Given the description of an element on the screen output the (x, y) to click on. 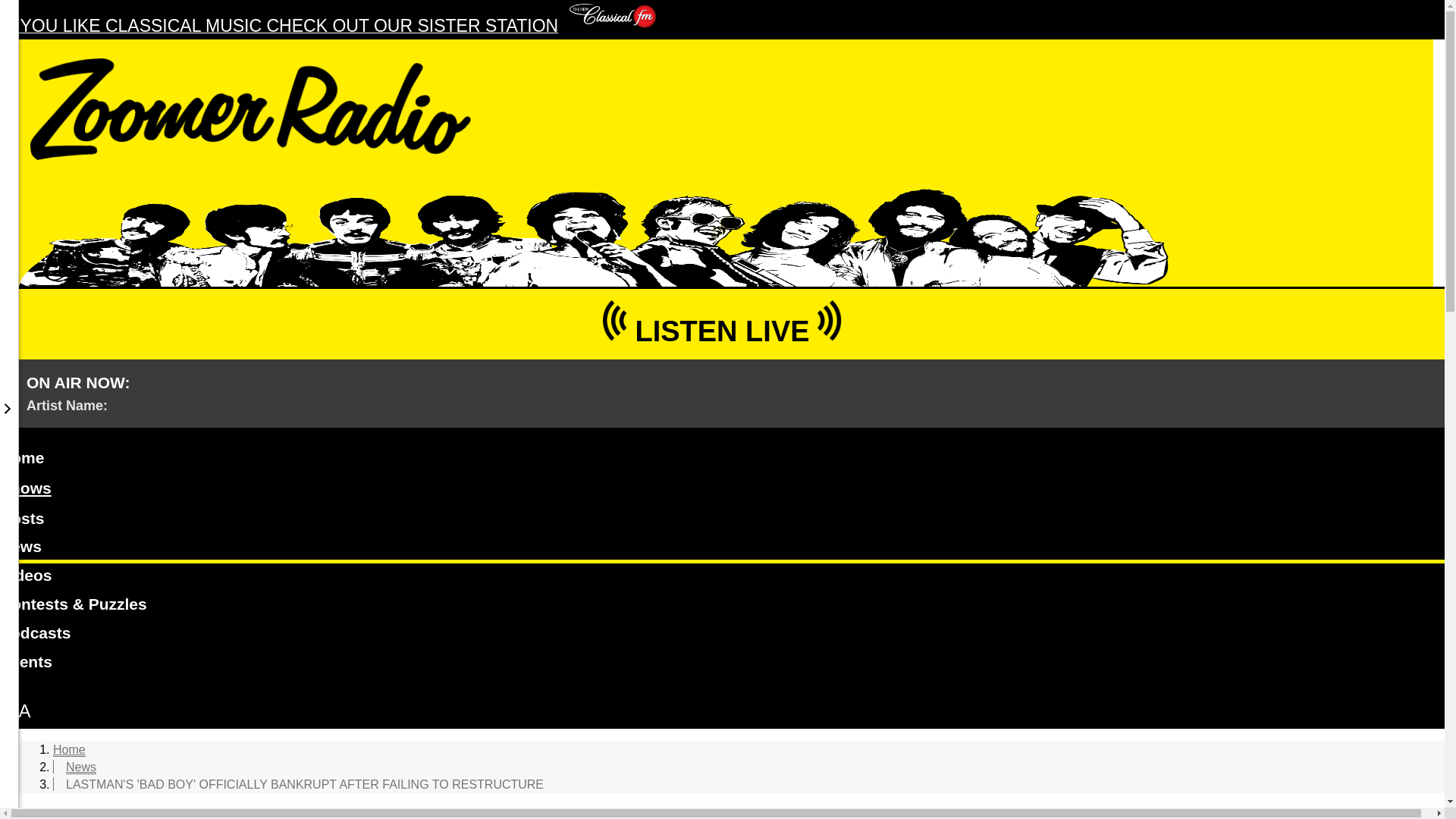
News (80, 766)
IF YOU LIKE CLASSICAL MUSIC CHECK OUT OUR SISTER STATION (328, 27)
Home (722, 460)
LISTEN LIVE (722, 322)
Hosts (722, 520)
Home (68, 749)
Videos (722, 577)
Shows (25, 488)
Events (722, 664)
